Given the description of an element on the screen output the (x, y) to click on. 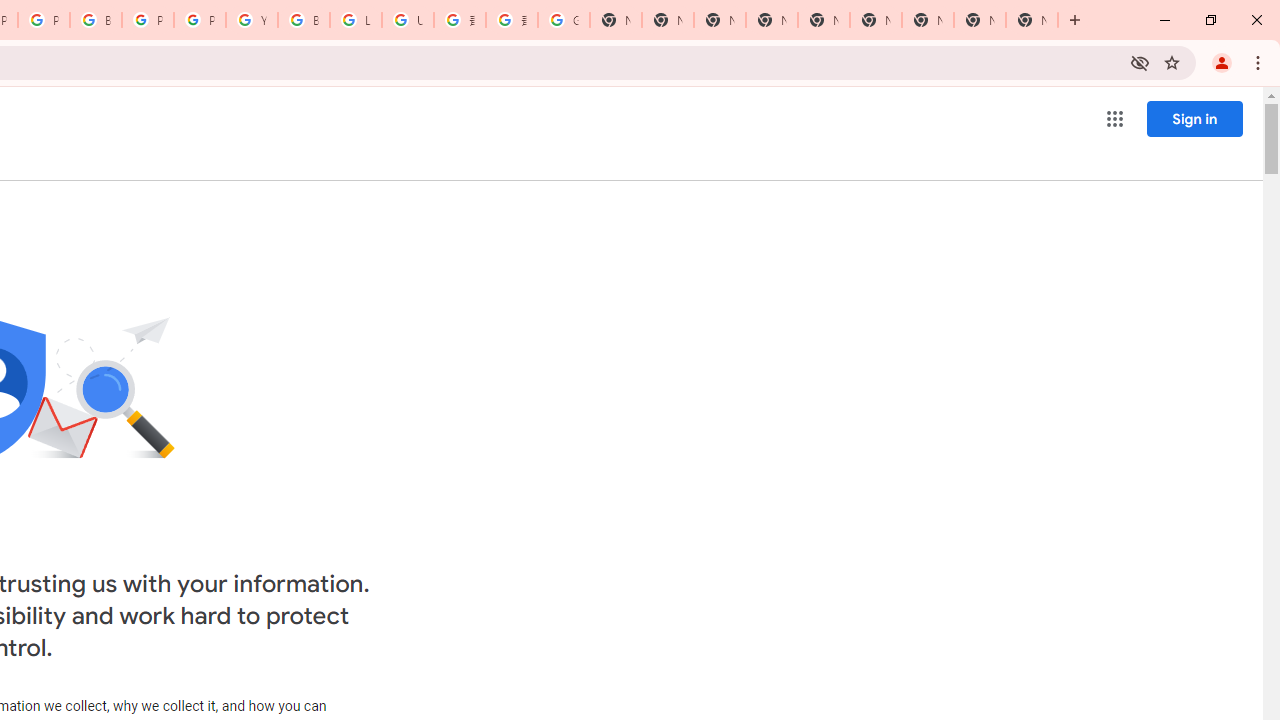
New Tab (1032, 20)
New Tab (771, 20)
Google Images (563, 20)
